Given the description of an element on the screen output the (x, y) to click on. 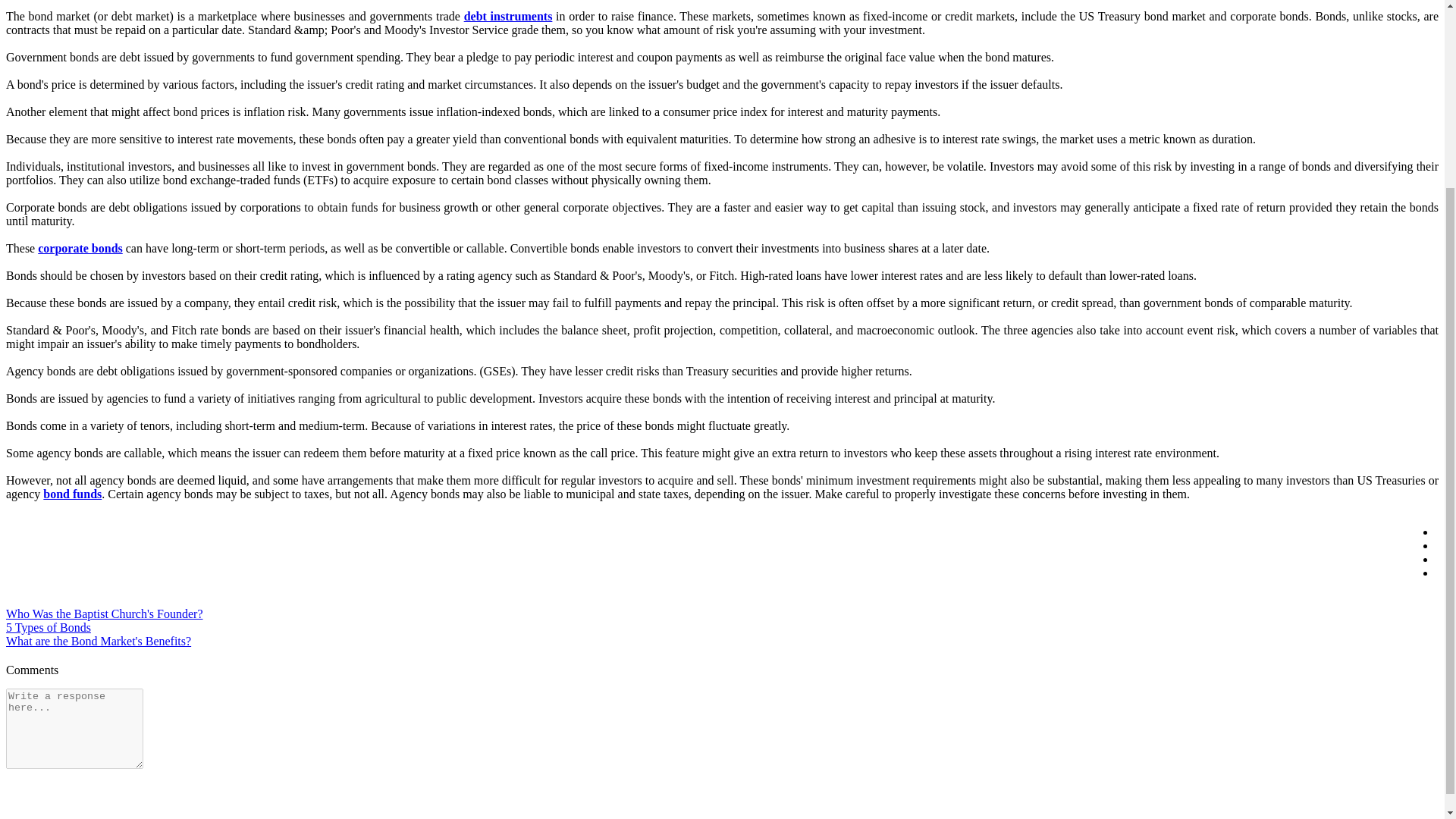
5 Types of Bonds (47, 626)
bond funds (72, 493)
What are the Bond Market's Benefits? (97, 640)
corporate bonds (79, 247)
Who Was the Baptist Church's Founder? (103, 613)
debt instruments (508, 15)
